Given the description of an element on the screen output the (x, y) to click on. 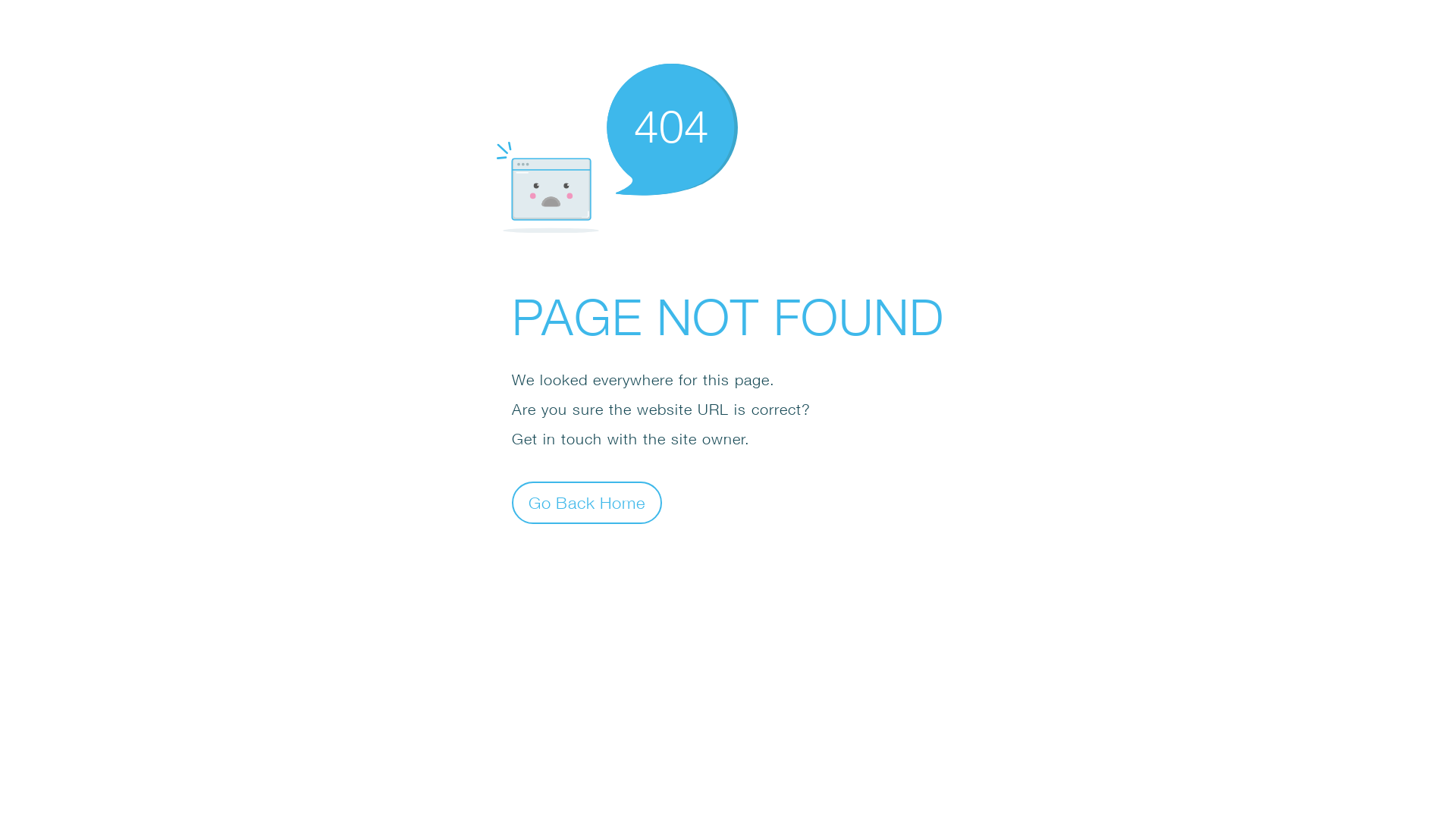
Go Back Home Element type: text (586, 502)
